Given the description of an element on the screen output the (x, y) to click on. 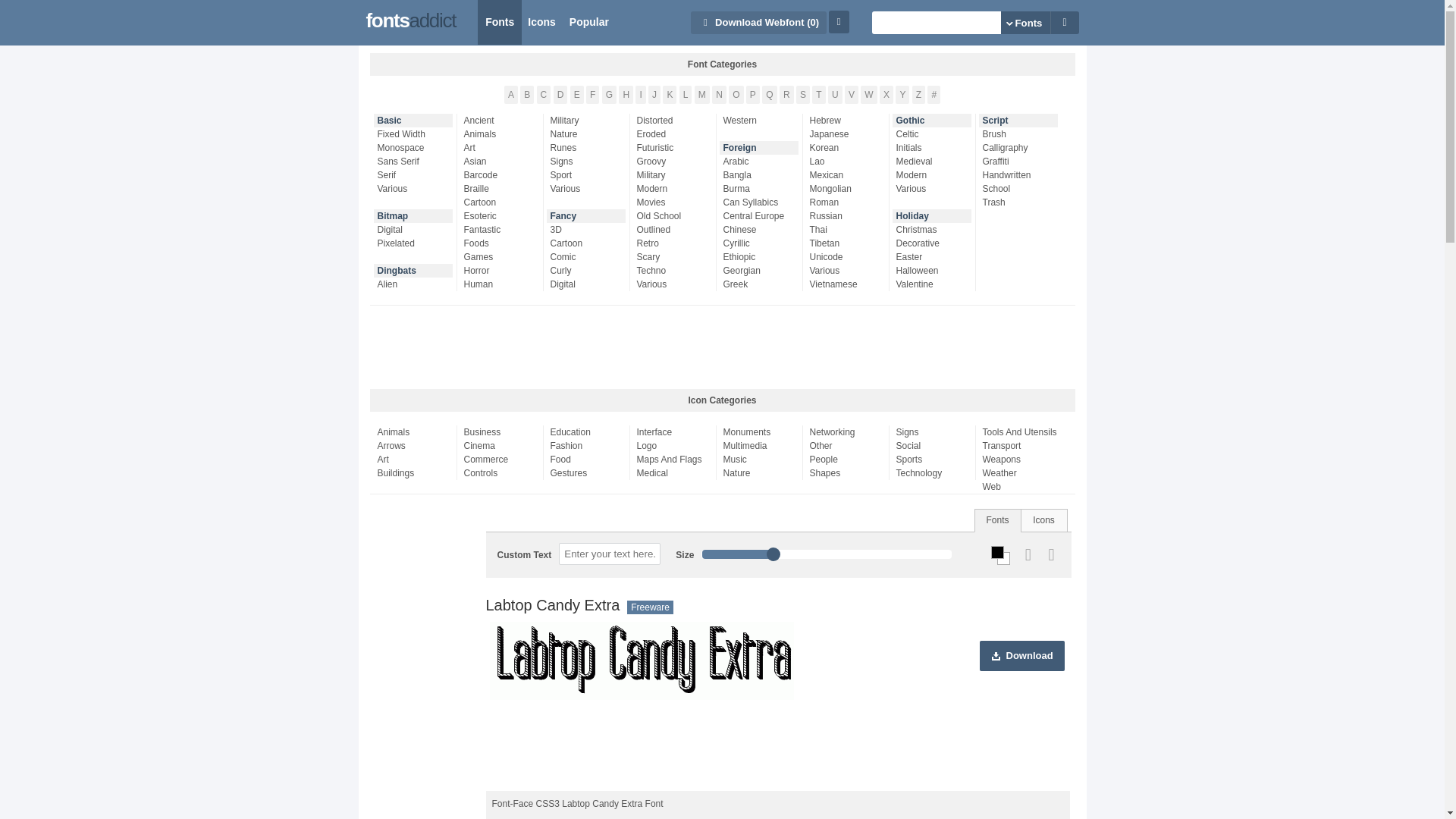
Change background color (1003, 558)
Popular (588, 22)
Change foreground color (997, 552)
Advertisement (721, 346)
Advertisement (775, 752)
Basic (414, 120)
Icons (541, 22)
Fonts (499, 22)
Fixed Width (417, 133)
Monospace (417, 147)
